Given the description of an element on the screen output the (x, y) to click on. 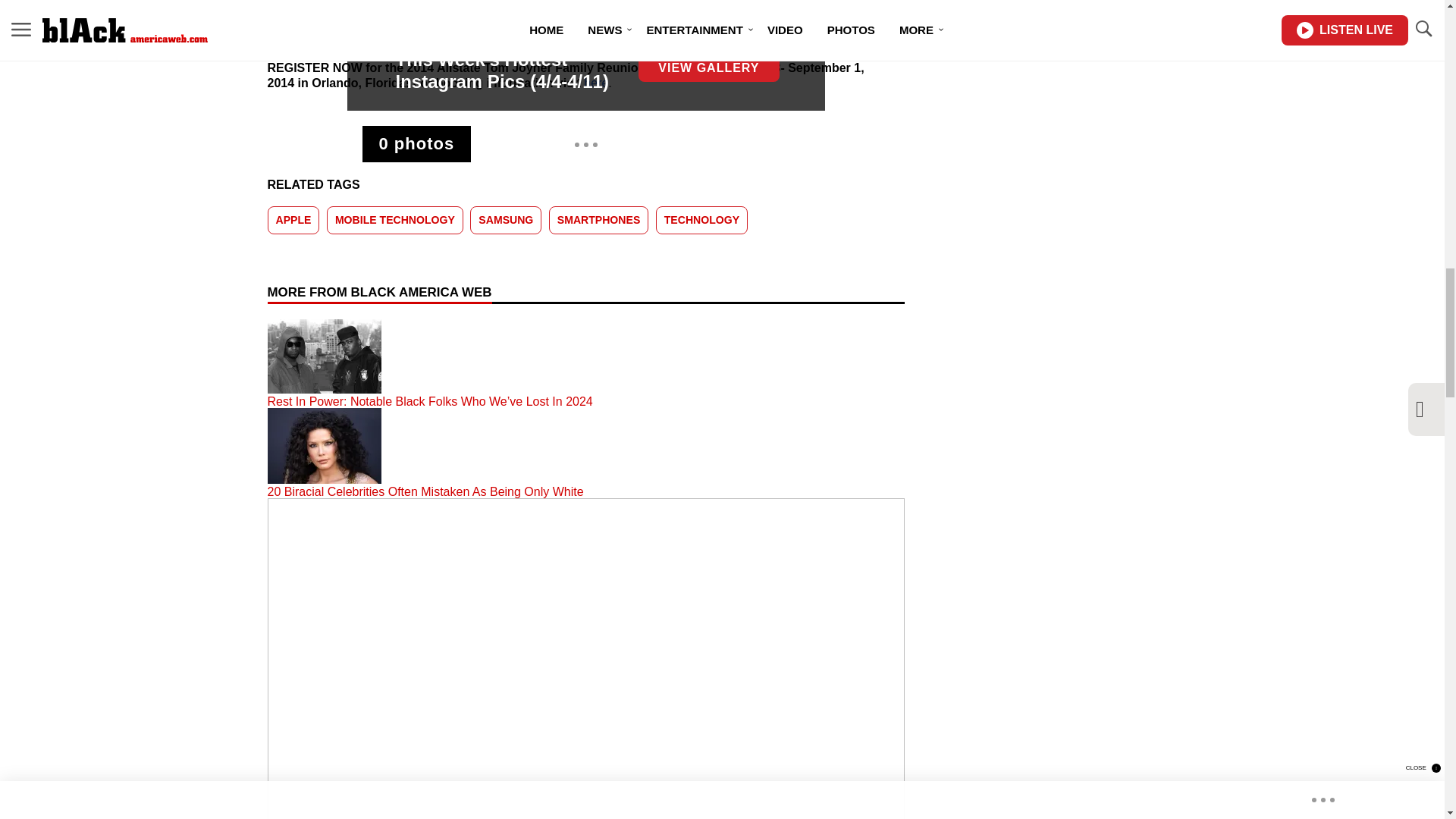
MOBILE TECHNOLOGY (394, 220)
here (595, 82)
Twitter (610, 32)
Facebook (477, 32)
Media Playlist (416, 144)
APPLE (292, 220)
SAMSUNG (505, 220)
